Given the description of an element on the screen output the (x, y) to click on. 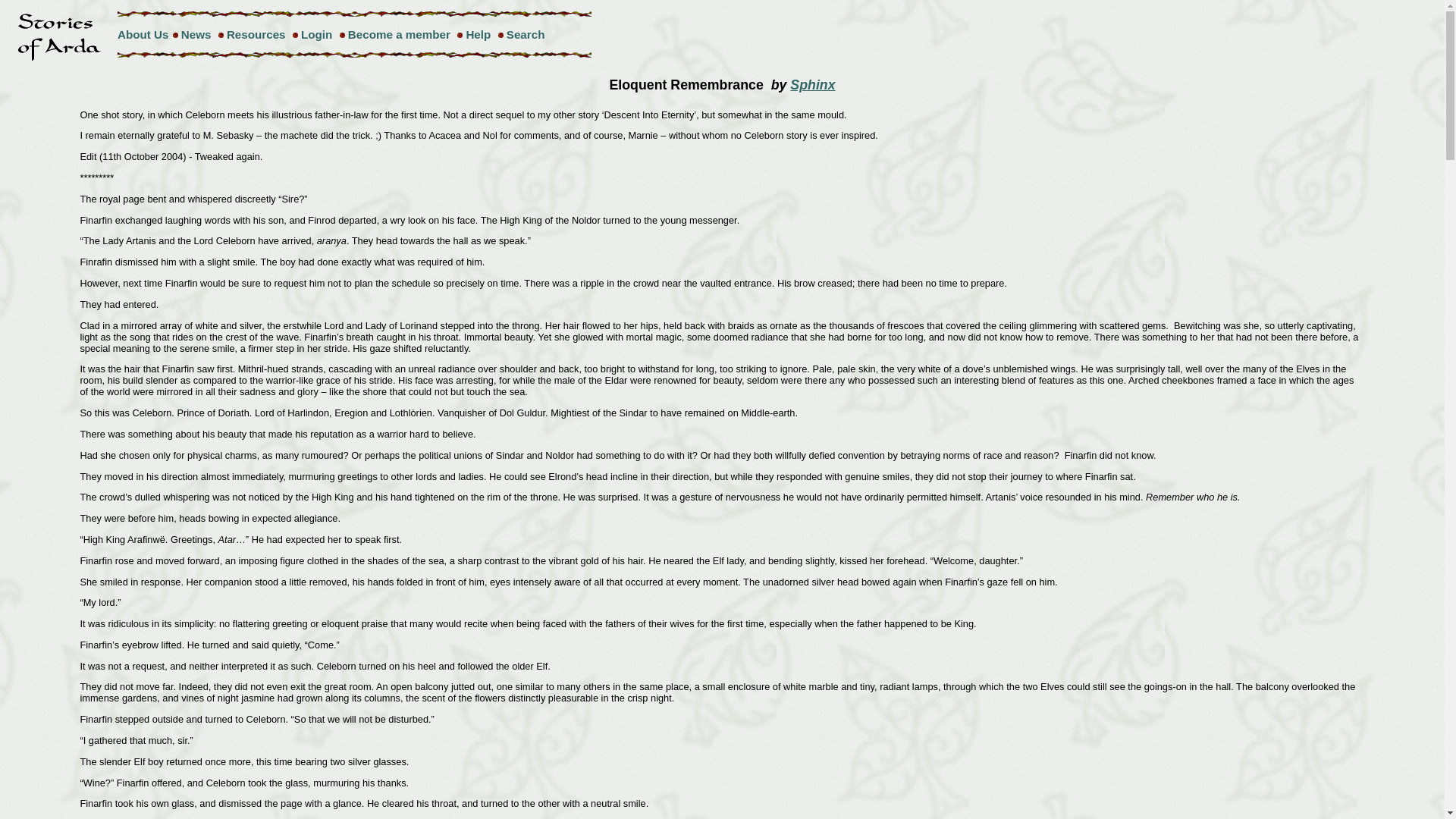
Help (477, 33)
Sphinx (812, 84)
Resources (256, 33)
About Us (142, 33)
Login (316, 33)
Become a member (398, 33)
News (195, 33)
Search (525, 33)
